Given the description of an element on the screen output the (x, y) to click on. 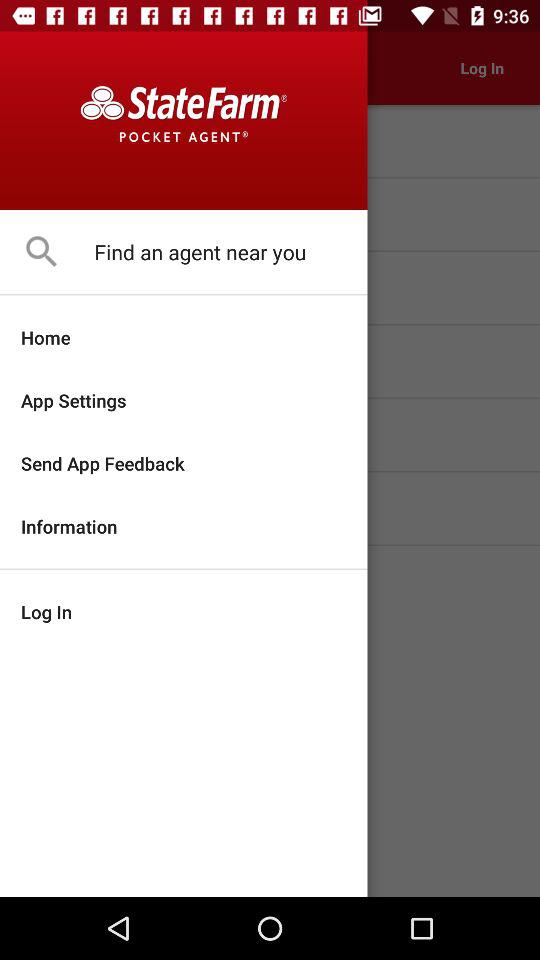
select the option log in which is in the top right corner of the page (482, 67)
